Given the description of an element on the screen output the (x, y) to click on. 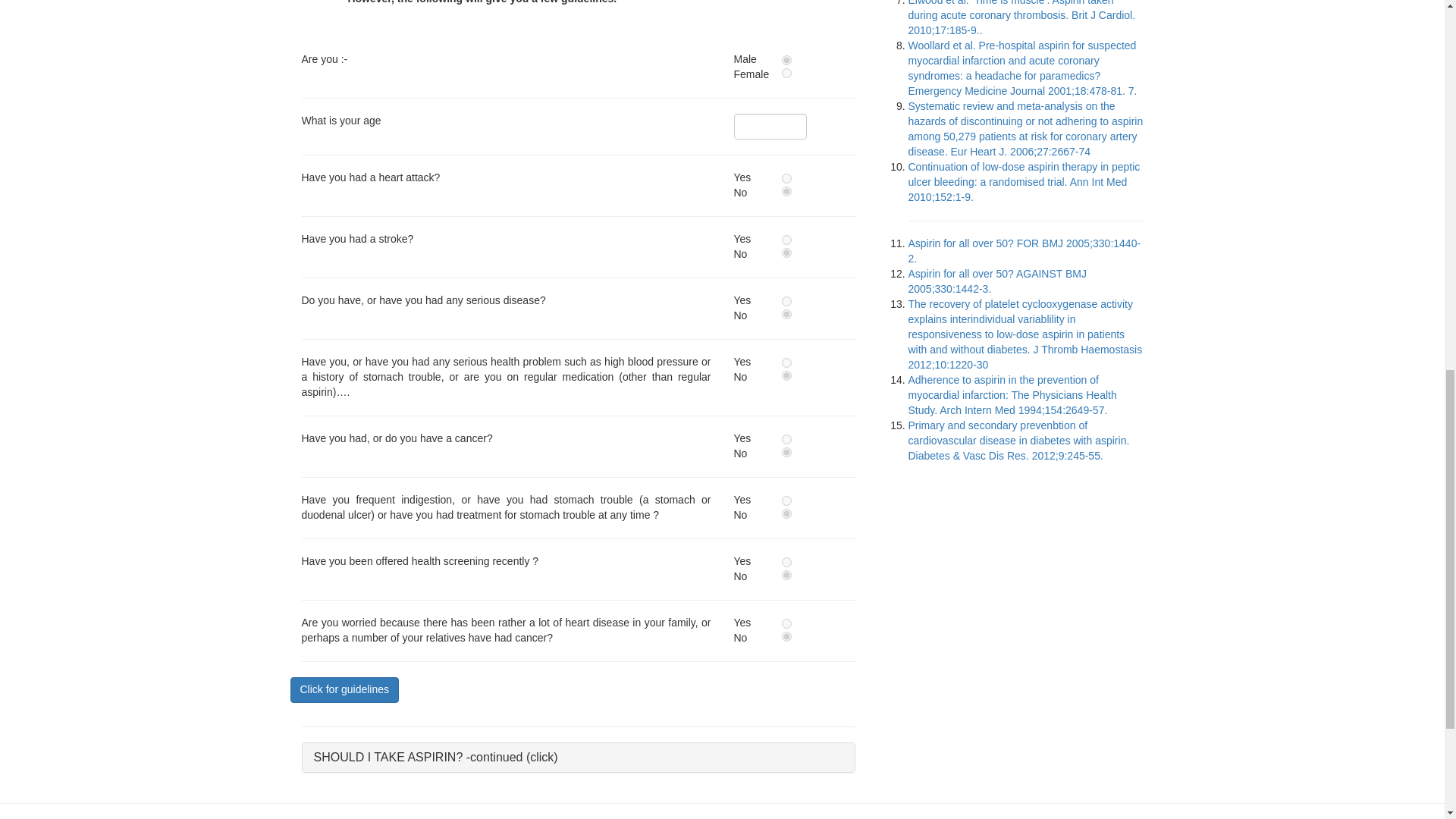
Click for guidelines (343, 689)
true (786, 439)
false (786, 72)
false (786, 252)
true (786, 301)
Aspirin for all over 50? FOR BMJ 2005;330:1440-2. (1024, 250)
true (786, 501)
true (786, 623)
false (786, 314)
true (786, 178)
false (786, 452)
